Given the description of an element on the screen output the (x, y) to click on. 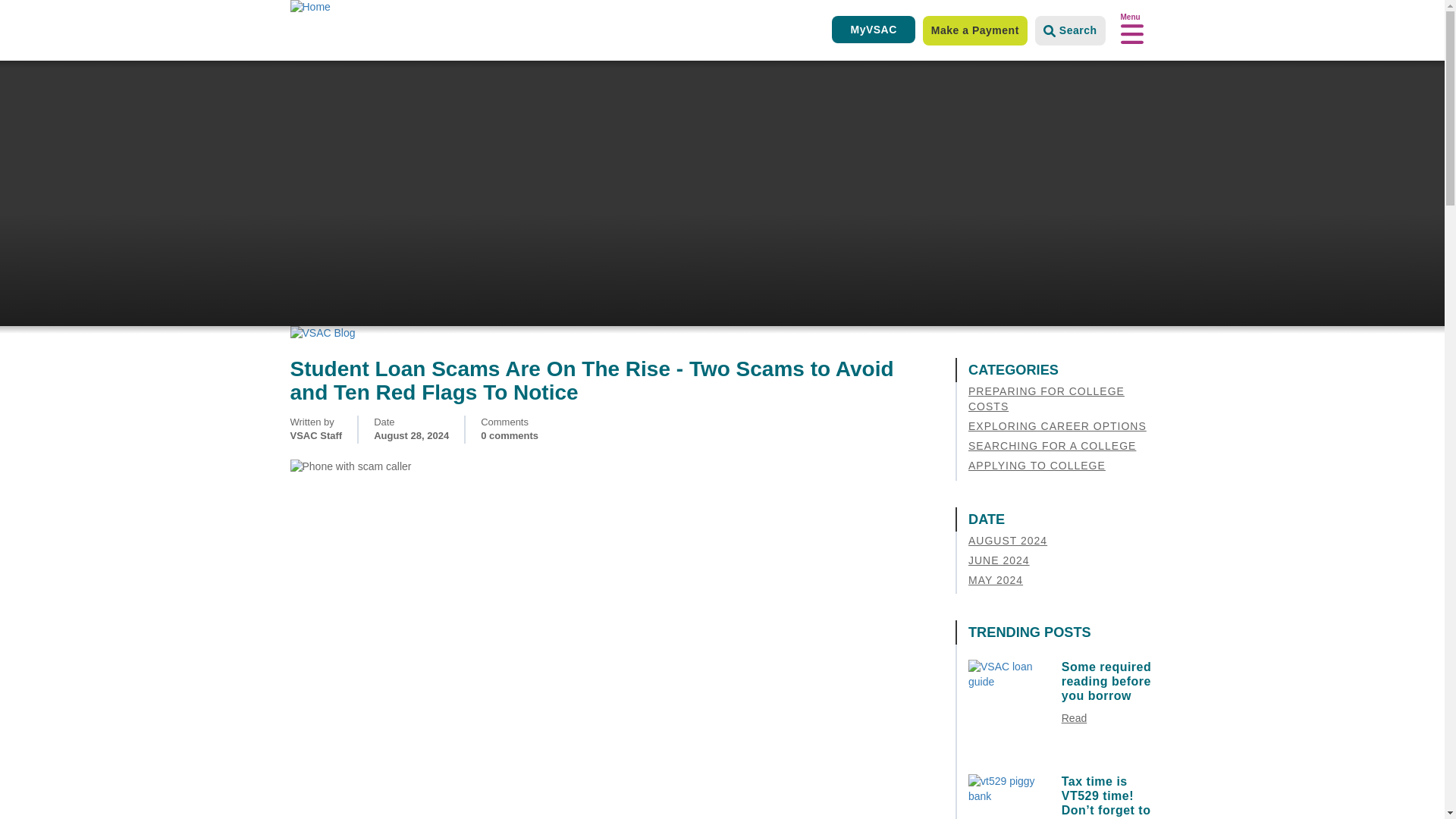
Search (1070, 30)
MyVSAC (872, 29)
Make a Payment (975, 30)
Home (345, 7)
